Given the description of an element on the screen output the (x, y) to click on. 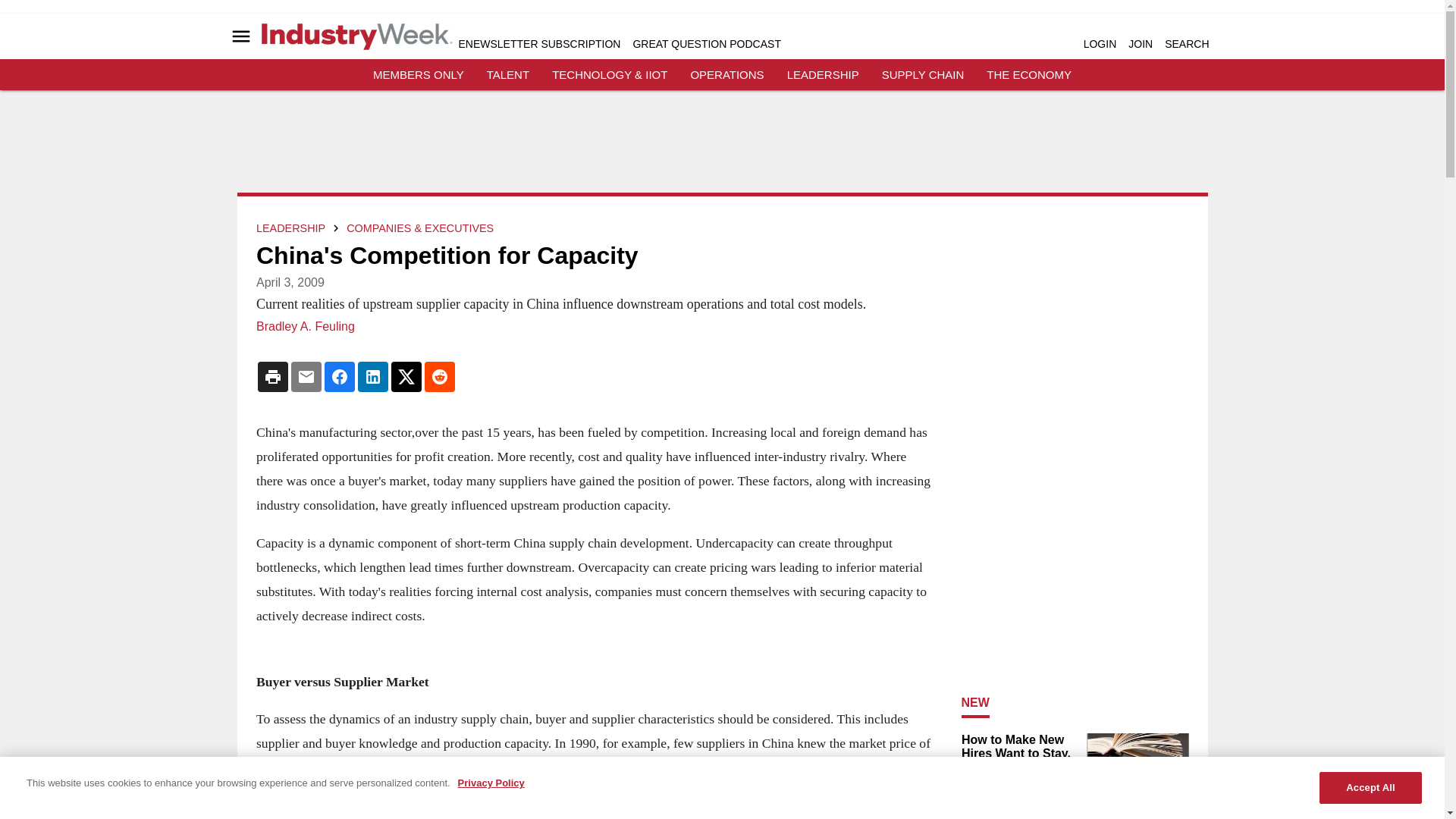
MEMBERS ONLY (418, 74)
LEADERSHIP (823, 74)
THE ECONOMY (1029, 74)
3rd party ad content (721, 146)
GREAT QUESTION PODCAST (705, 43)
ENEWSLETTER SUBSCRIPTION (539, 43)
TALENT (507, 74)
OPERATIONS (726, 74)
SUPPLY CHAIN (922, 74)
SEARCH (1186, 43)
JOIN (1140, 43)
LOGIN (1099, 43)
